Given the description of an element on the screen output the (x, y) to click on. 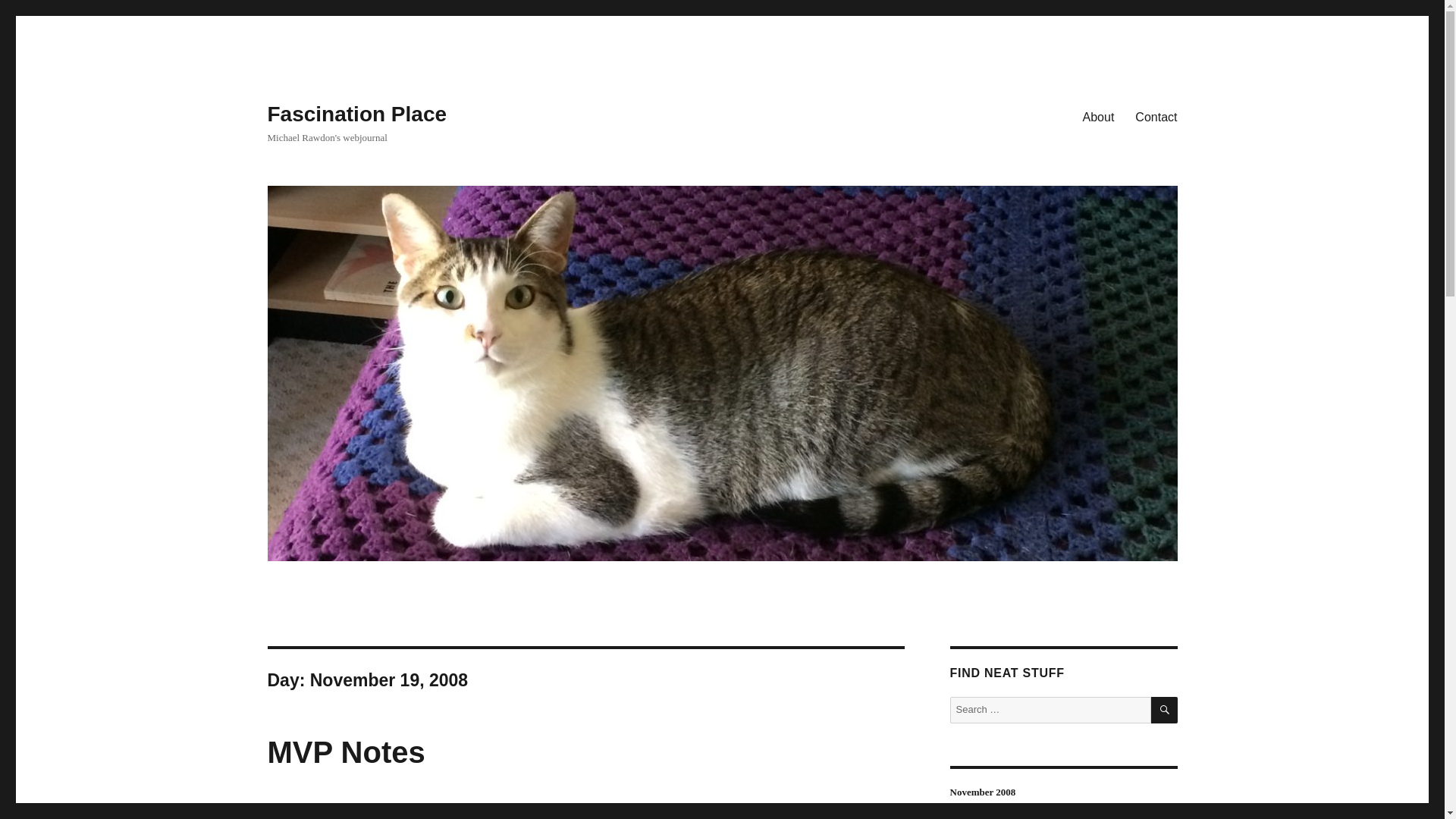
19 November 2008 (308, 811)
MVP Notes (345, 752)
Contact (1156, 116)
SEARCH (1164, 709)
Fascination Place (356, 114)
About (1098, 116)
